Given the description of an element on the screen output the (x, y) to click on. 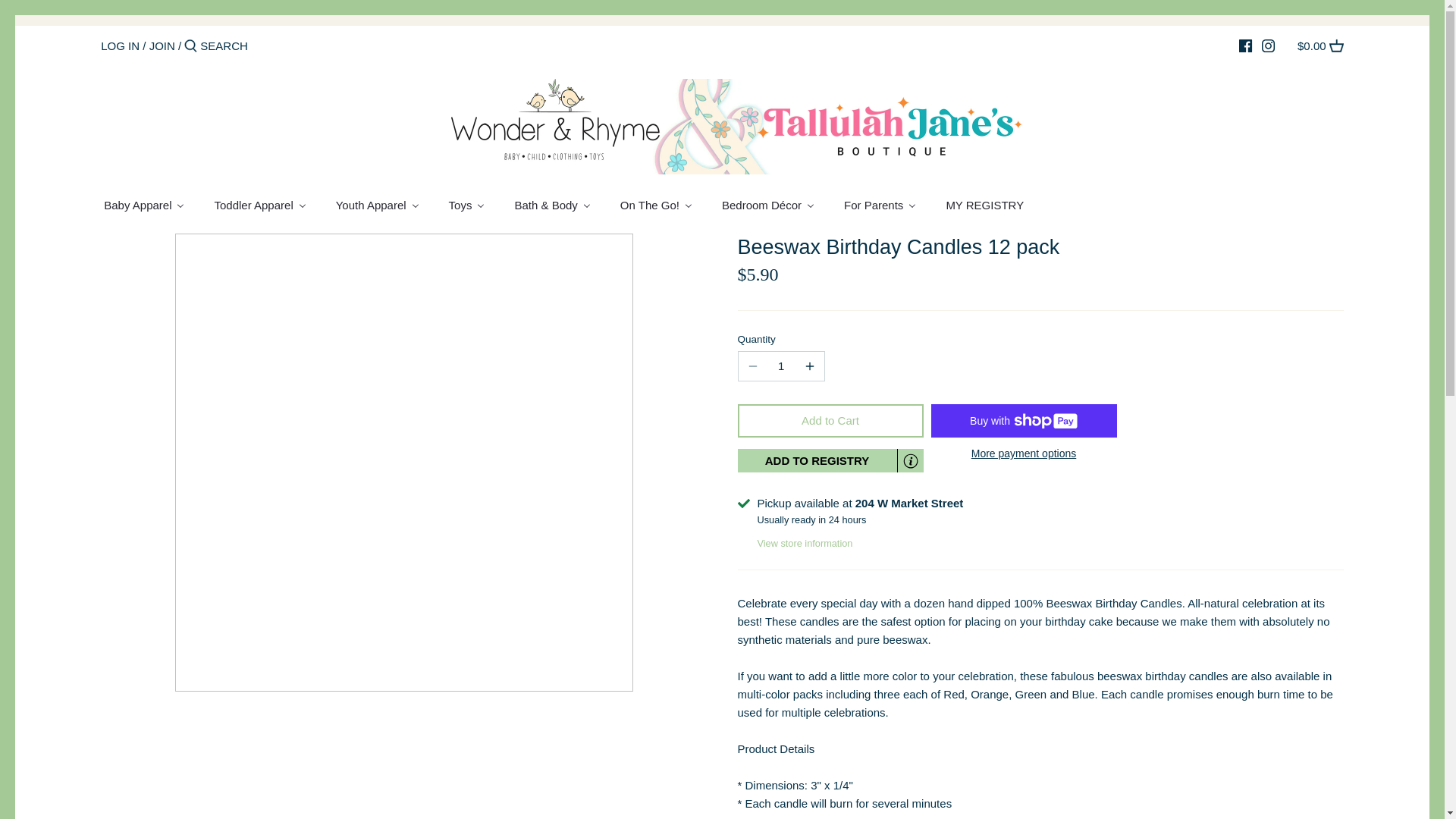
FACEBOOK (1245, 45)
JOIN (161, 45)
1 (781, 366)
Baby Apparel (149, 206)
INSTAGRAM (1268, 45)
LOG IN (119, 45)
